Given the description of an element on the screen output the (x, y) to click on. 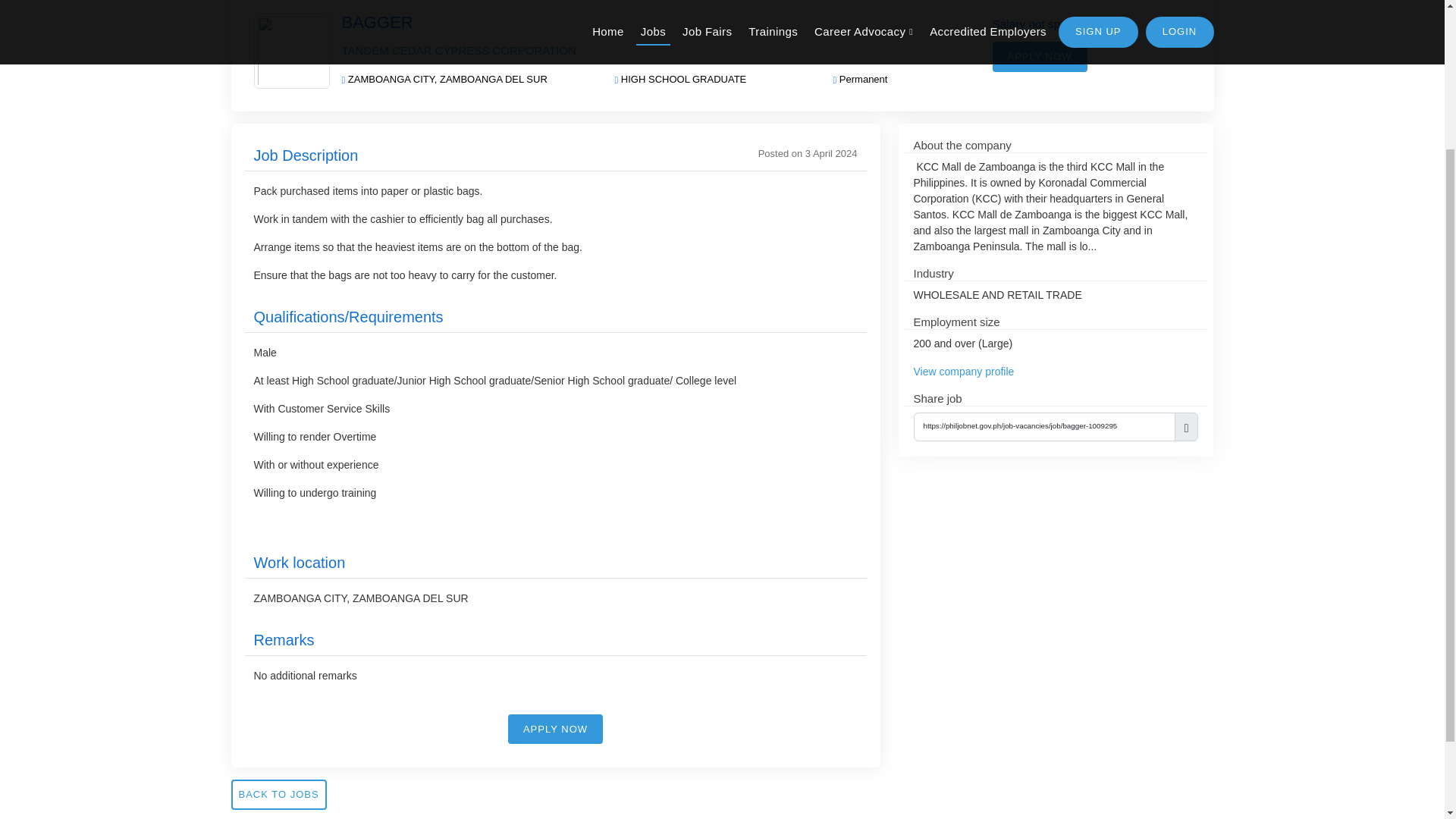
View company profile (962, 371)
BACK TO JOBS (278, 794)
TANDEM CEDAR CYPRESS CORPORATION (457, 50)
APPLY NOW (555, 729)
APPLY NOW (1038, 56)
